Given the description of an element on the screen output the (x, y) to click on. 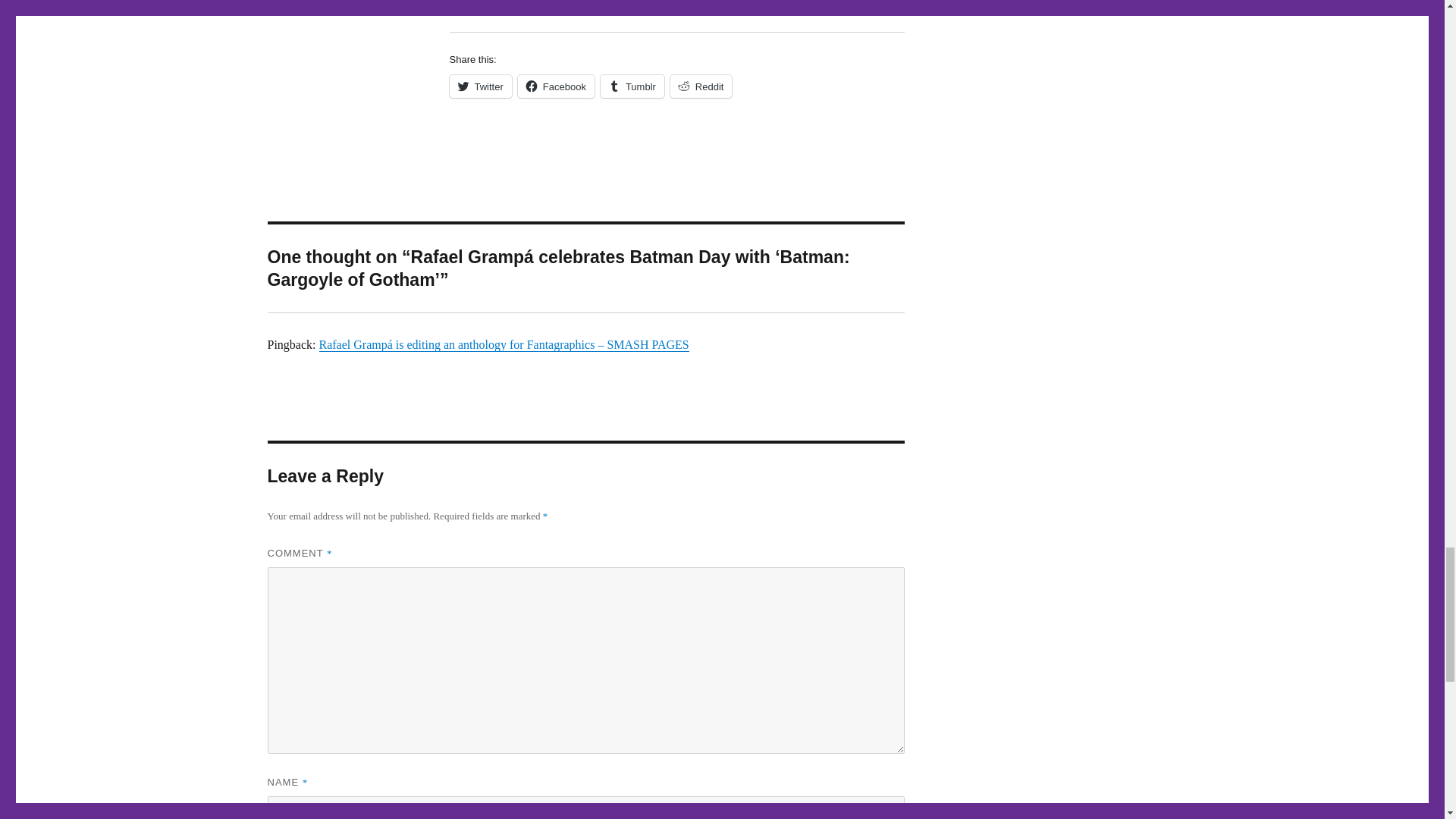
Tumblr (631, 86)
Facebook (556, 86)
Click to share on Facebook (556, 86)
Click to share on Tumblr (631, 86)
Twitter (479, 86)
Click to share on Reddit (700, 86)
Click to share on Twitter (479, 86)
Reddit (700, 86)
